Given the description of an element on the screen output the (x, y) to click on. 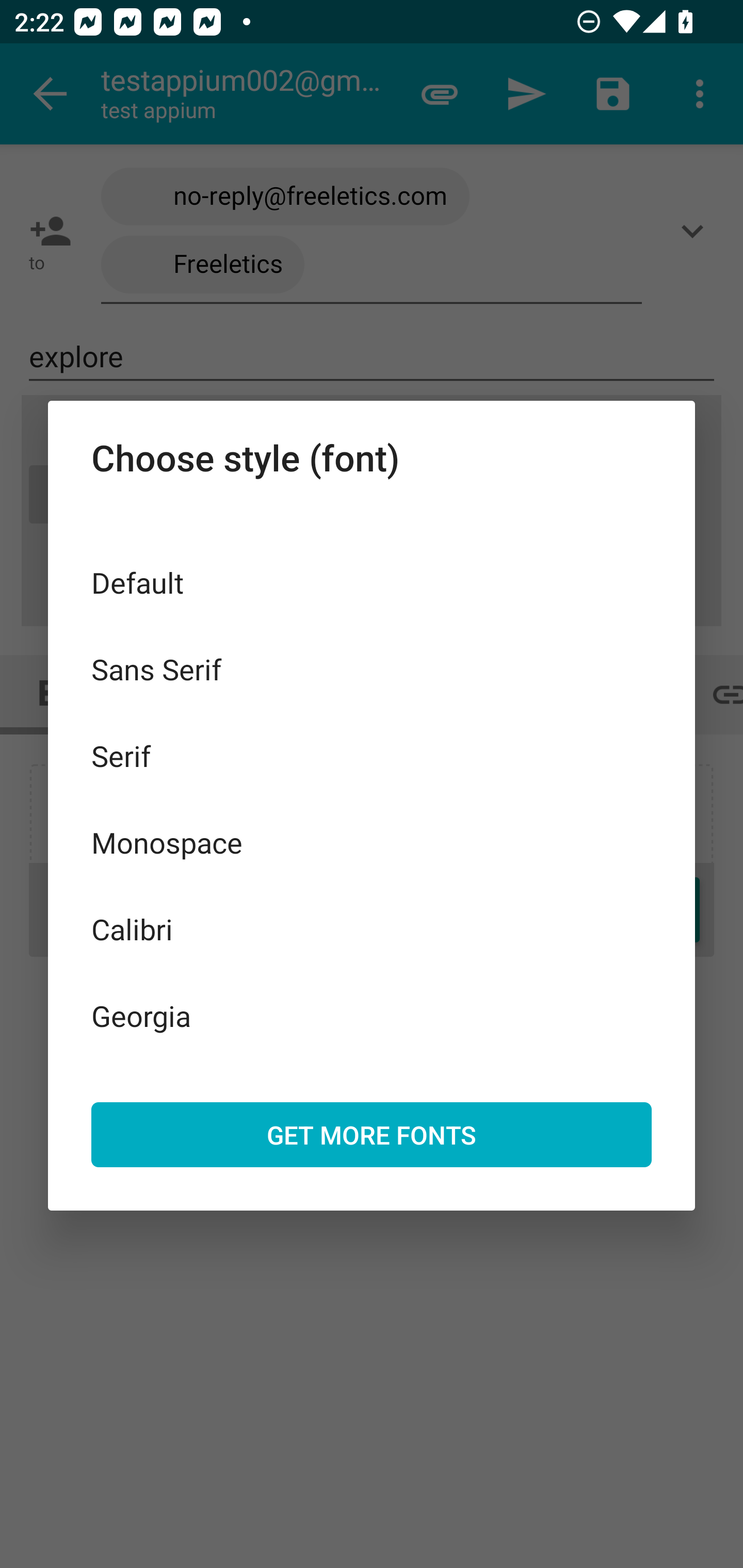
Default (371, 582)
Sans Serif (371, 668)
Serif (371, 755)
Monospace (371, 842)
Calibri (371, 928)
Georgia (371, 1015)
GET MORE FONTS (371, 1134)
